Given the description of an element on the screen output the (x, y) to click on. 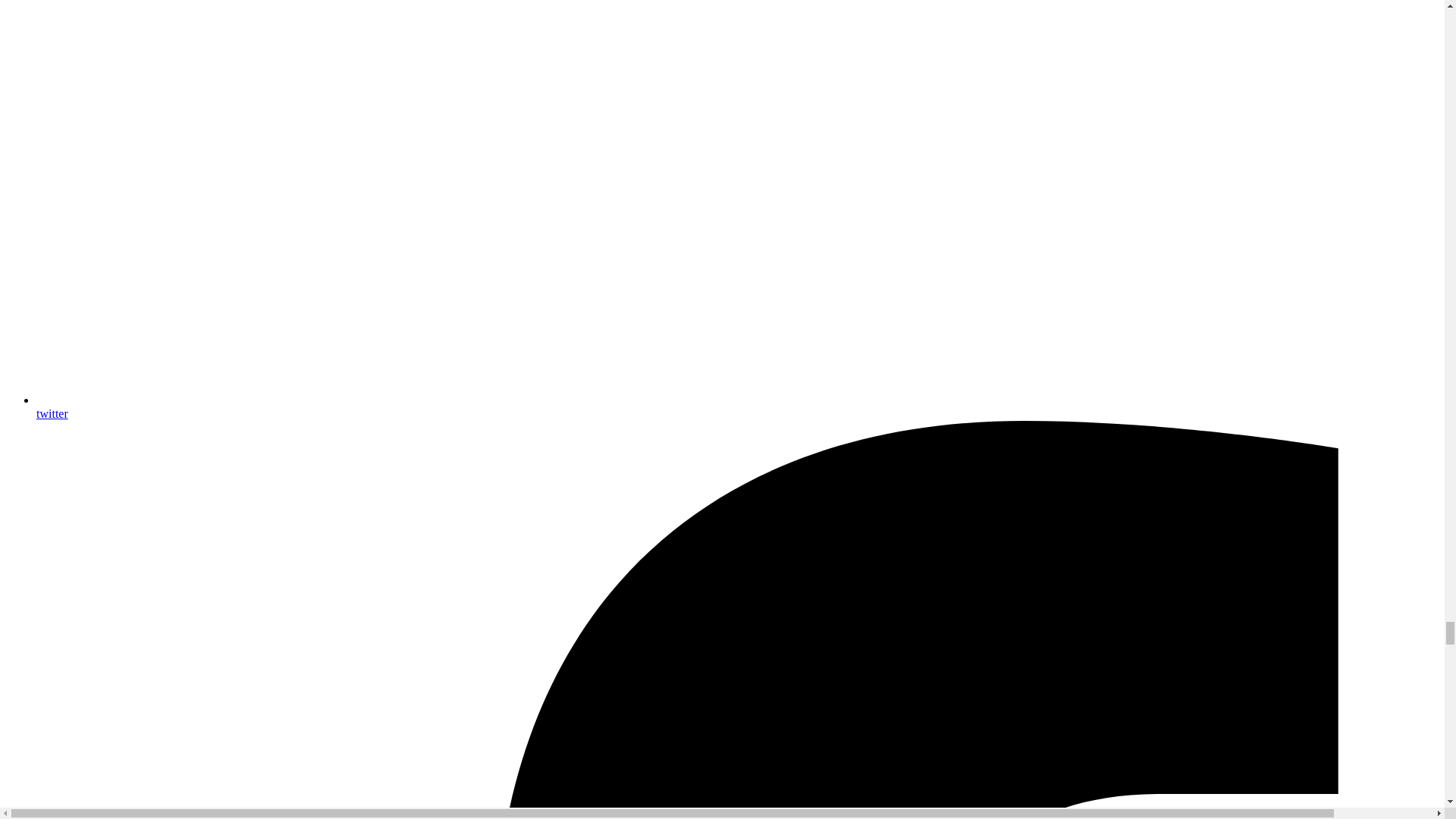
twitter (737, 406)
